Given the description of an element on the screen output the (x, y) to click on. 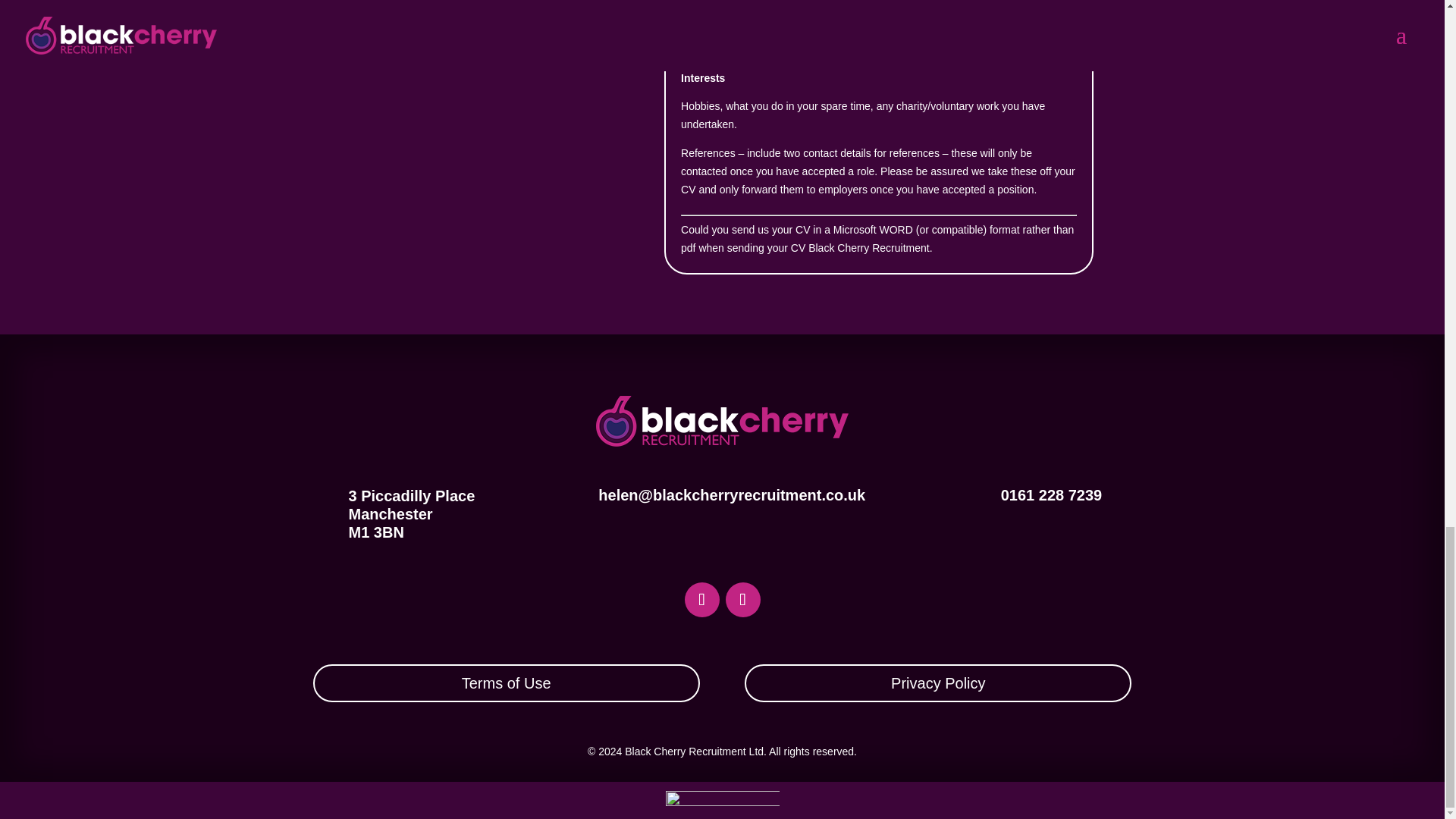
logo-h-white (721, 804)
0161 228 7239 (1051, 494)
Privacy Policy (937, 682)
Terms of Use (505, 682)
Follow on Twitter (742, 599)
logo (721, 420)
Follow on LinkedIn (701, 599)
